Given the description of an element on the screen output the (x, y) to click on. 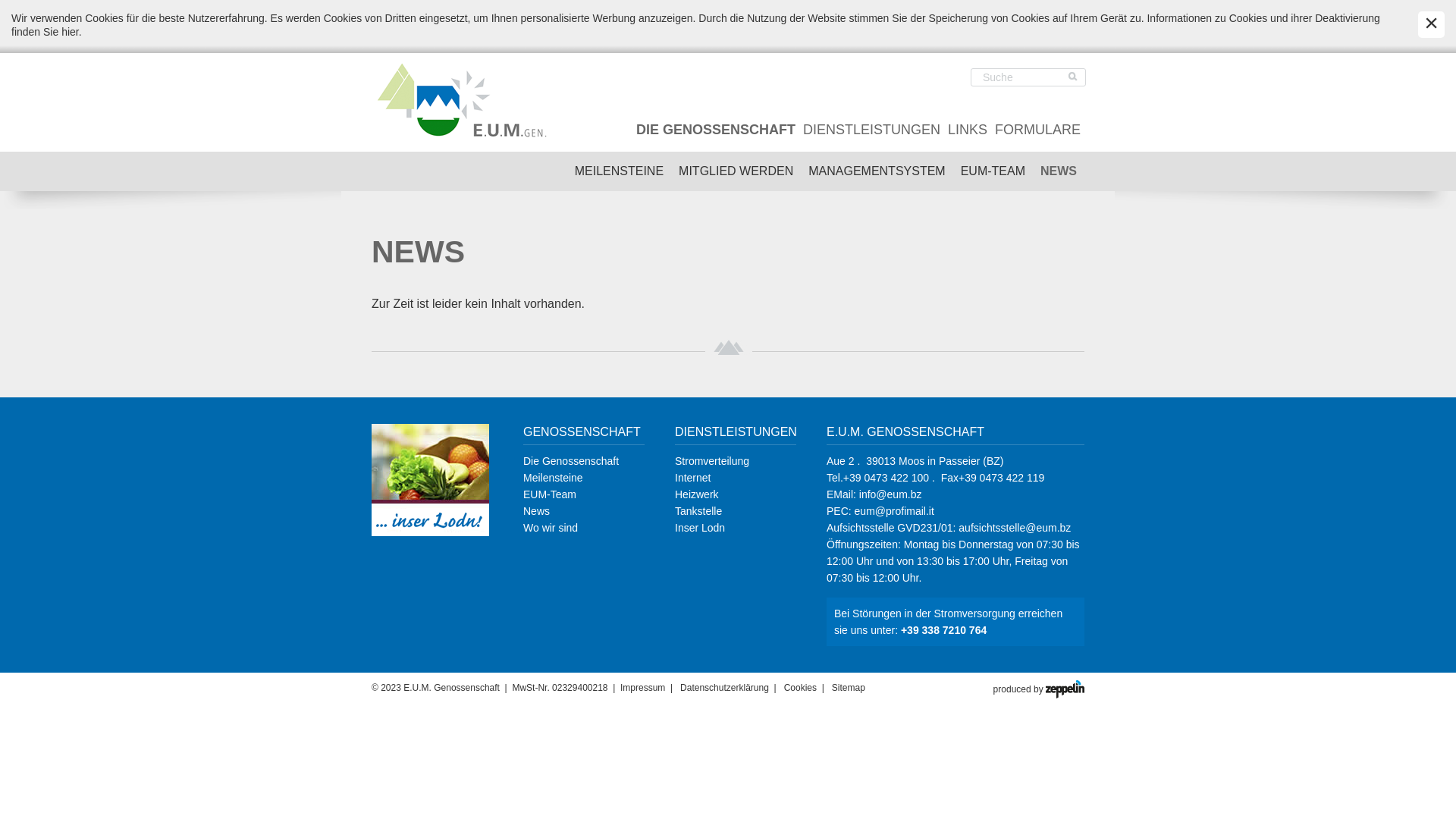
Stromverteilung Element type: text (711, 461)
EUM-Team Element type: text (549, 494)
Heizwerk Element type: text (696, 494)
LINKS Element type: text (967, 129)
DIENSTLEISTUNGEN Element type: text (871, 129)
News Element type: text (536, 511)
Inser Lodn Element type: text (699, 527)
FORMULARE Element type: text (1037, 129)
MITGLIED WERDEN Element type: text (735, 170)
Tankstelle Element type: text (697, 511)
  Element type: text (1072, 76)
MANAGEMENTSYSTEM Element type: text (876, 170)
hier Element type: text (69, 31)
NEWS Element type: text (1058, 170)
aufsichtsstelle@eum.bz Element type: text (1014, 527)
Impressum Element type: text (642, 687)
Wo wir sind Element type: text (550, 527)
info@eum.bz Element type: text (890, 494)
EUM-TEAM Element type: text (992, 170)
Sitemap Element type: text (848, 687)
eum@profimail.it Element type: text (894, 511)
Die Genossenschaft Element type: text (570, 461)
DIE GENOSSENSCHAFT Element type: text (715, 129)
Meilensteine Element type: text (553, 477)
MEILENSTEINE Element type: text (618, 170)
Cookies Element type: text (800, 687)
Internet Element type: text (692, 477)
produced by Element type: text (1038, 688)
